Given the description of an element on the screen output the (x, y) to click on. 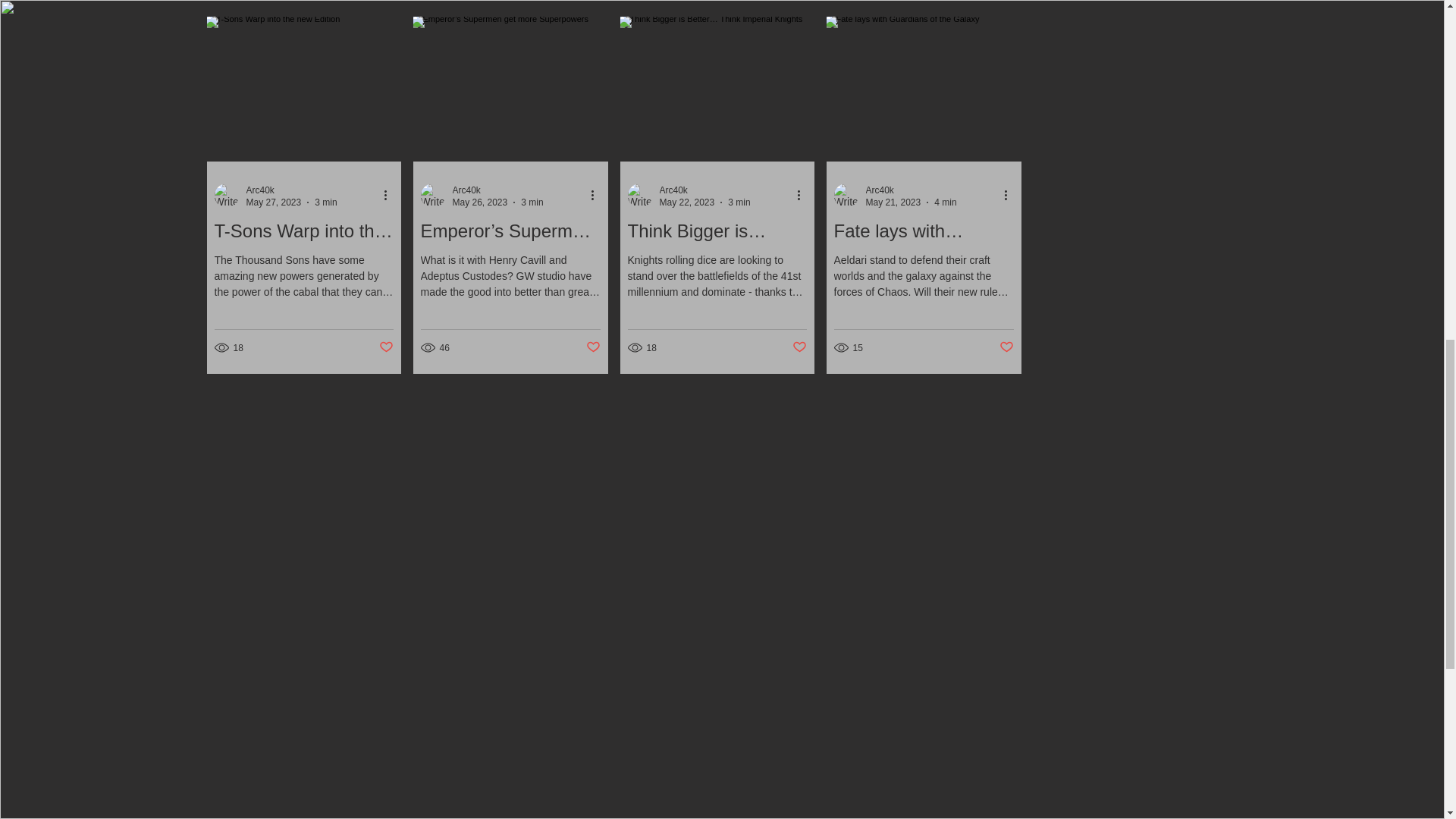
T-Sons Warp into the new Edition (303, 231)
Arc40k (879, 190)
May 26, 2023 (478, 202)
3 min (532, 202)
Arc40k (259, 190)
3 min (325, 202)
May 22, 2023 (686, 202)
May 21, 2023 (893, 202)
3 min (738, 202)
Arc40k (465, 190)
May 27, 2023 (273, 202)
Arc40k (291, 189)
Arc40k (673, 190)
4 min (945, 202)
